Given the description of an element on the screen output the (x, y) to click on. 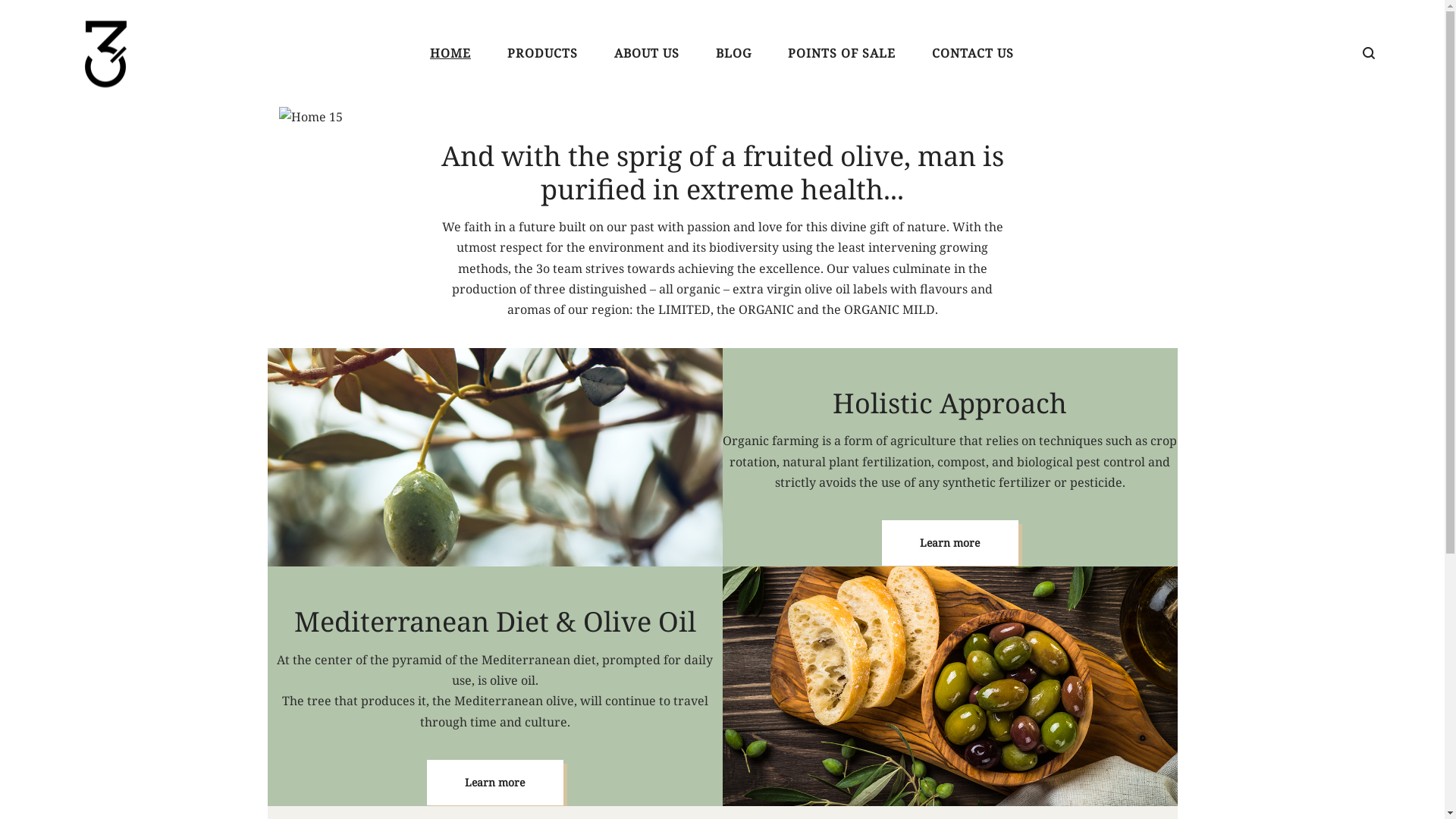
Learn more Element type: text (494, 782)
BLOG Element type: text (733, 52)
Home 15 Element type: hover (310, 116)
PRODUCTS Element type: text (542, 52)
HOME Element type: text (450, 52)
CONTACT US Element type: text (972, 52)
POINTS OF SALE Element type: text (841, 52)
ABOUT US Element type: text (646, 52)
Learn more Element type: text (949, 542)
